Given the description of an element on the screen output the (x, y) to click on. 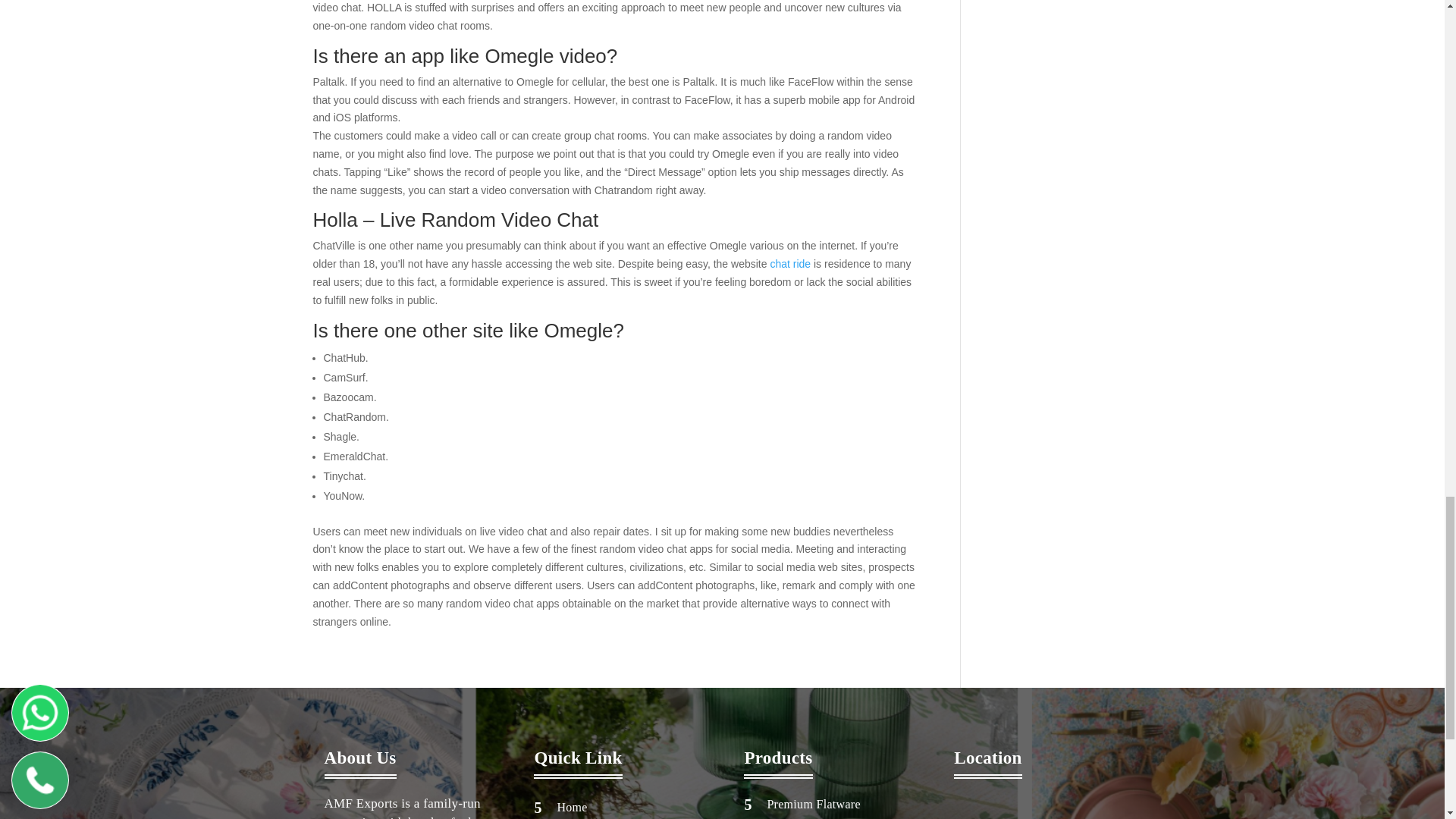
Premium Flatware (813, 803)
chat ride (790, 263)
Home (571, 807)
